Given the description of an element on the screen output the (x, y) to click on. 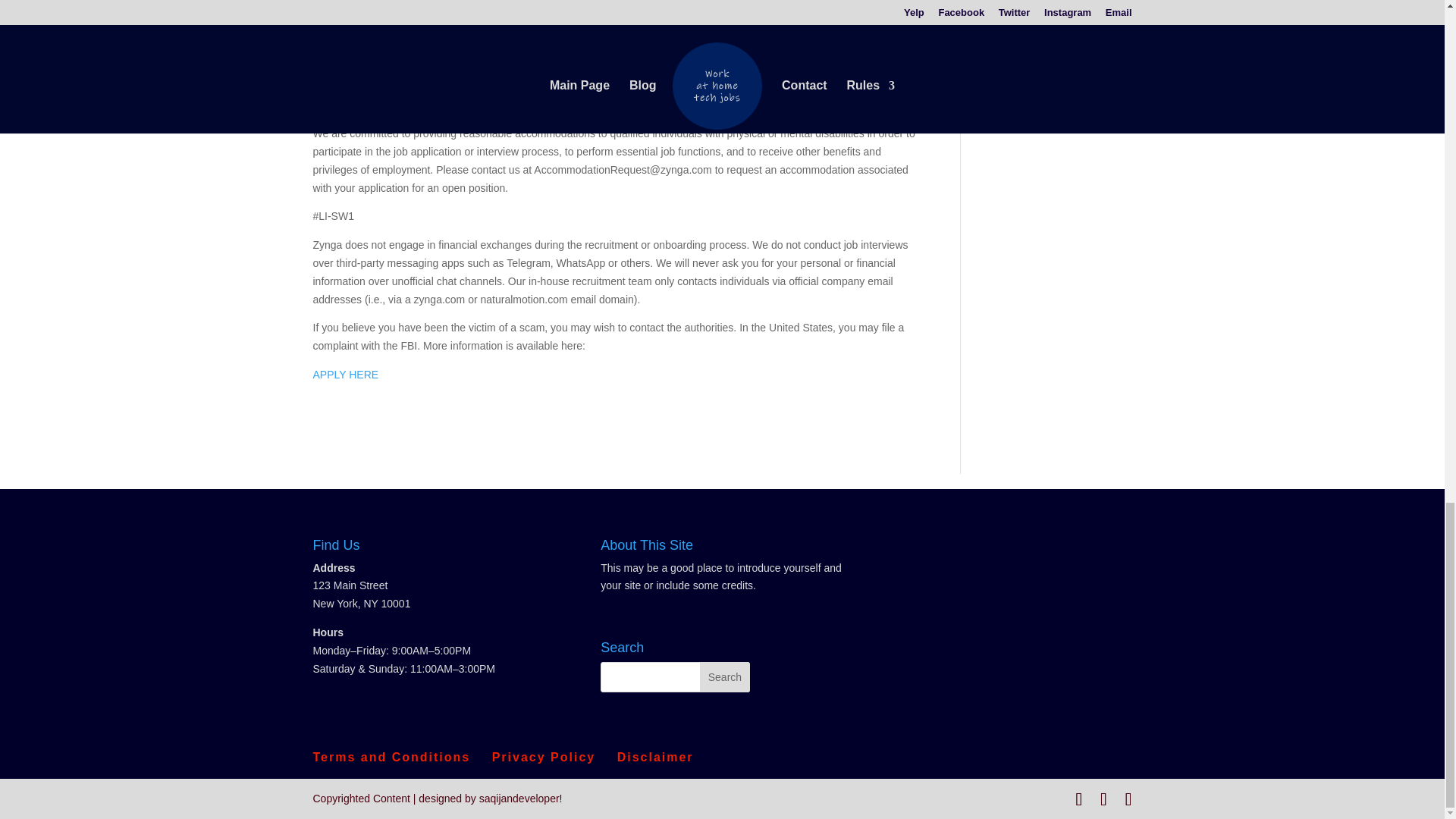
Search (724, 675)
Disclaimer (655, 757)
Terms and Conditions (391, 757)
Privacy Policy (543, 757)
APPLY HERE (345, 374)
Search (724, 675)
